Given the description of an element on the screen output the (x, y) to click on. 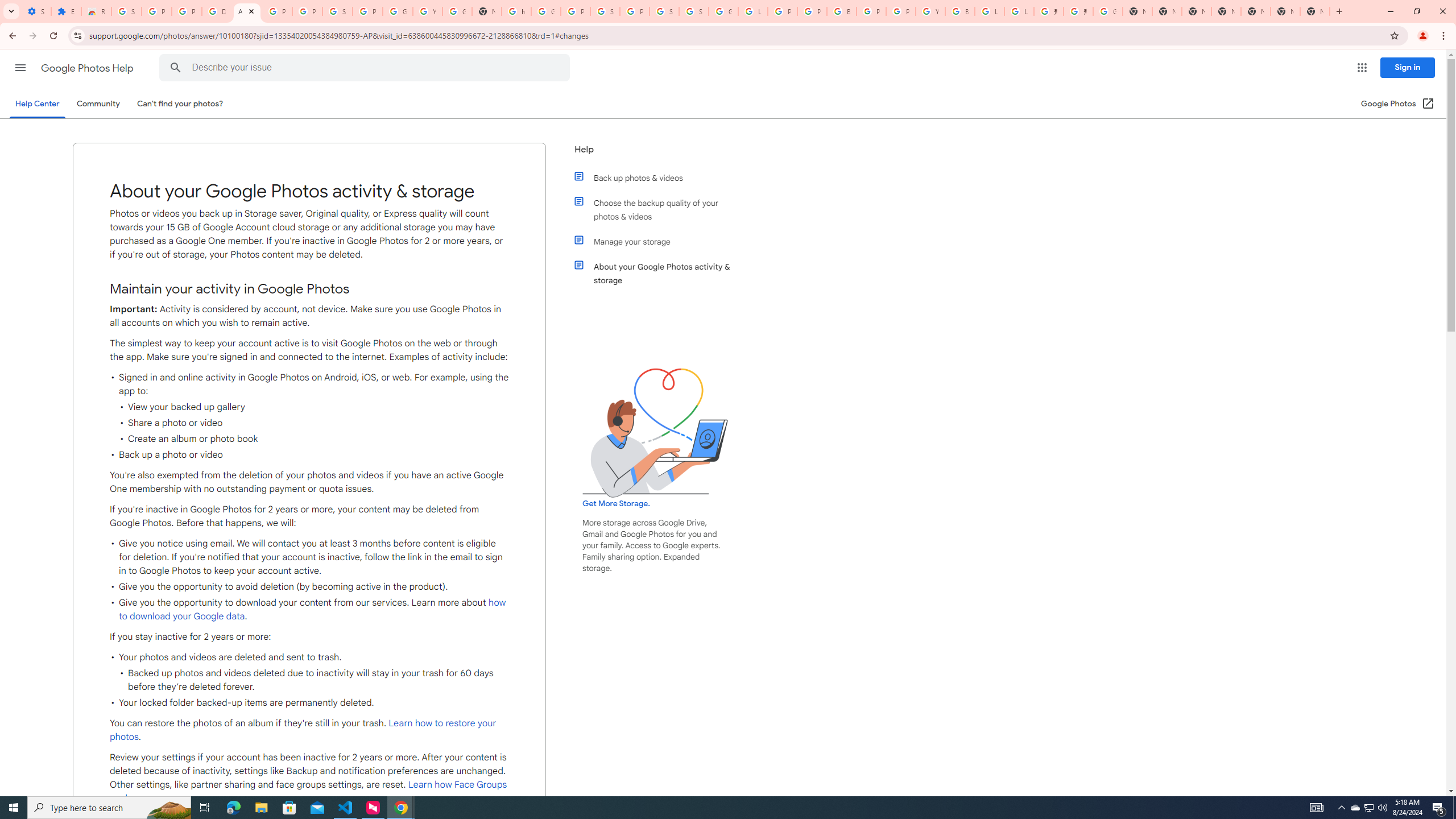
Privacy Help Center - Policies Help (782, 11)
Community (97, 103)
Learn how Face Groups works (307, 791)
Main menu (20, 67)
Can't find your photos? (180, 103)
